Given the description of an element on the screen output the (x, y) to click on. 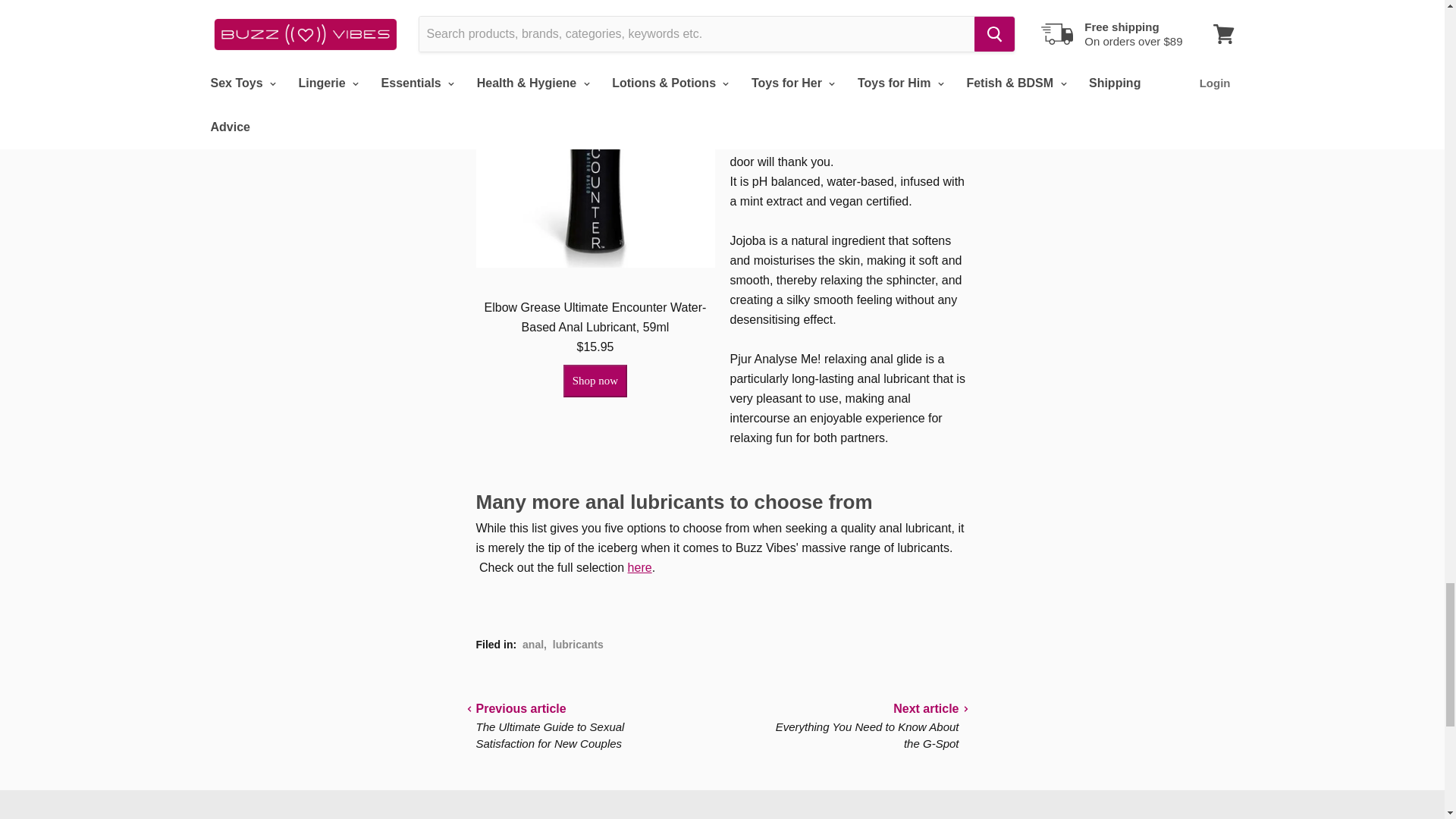
Show articles tagged lubricants (578, 644)
Show articles tagged anal (532, 644)
